Given the description of an element on the screen output the (x, y) to click on. 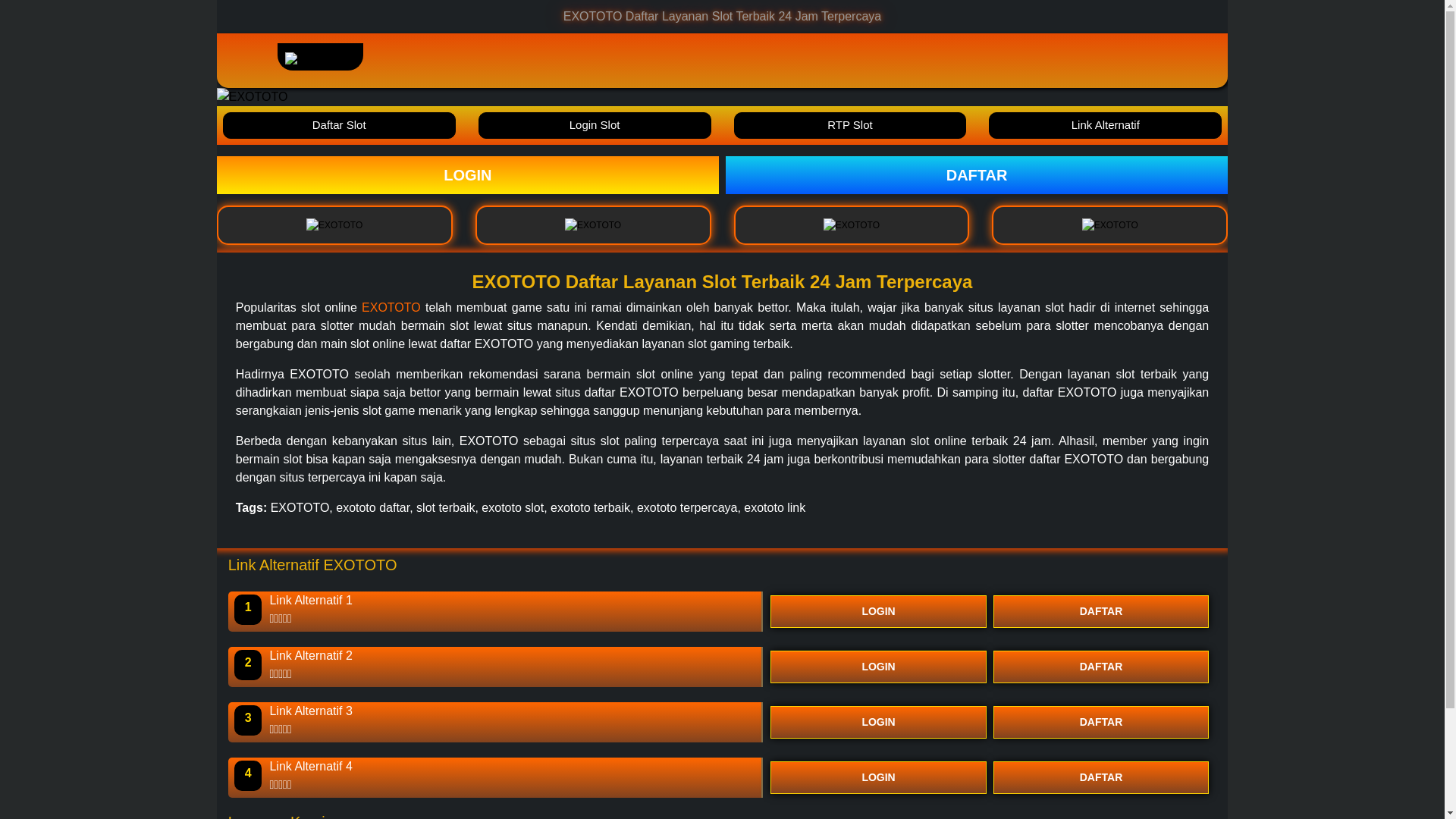
DAFTAR (1100, 611)
DAFTAR (976, 175)
LOGIN (878, 721)
LOGIN (878, 777)
DAFTAR (1100, 721)
LOGIN (467, 175)
LOGIN (878, 611)
DAFTAR (1100, 666)
DAFTAR (1100, 777)
LOGIN (878, 666)
EXOTOTO (467, 175)
EXOTOTO (976, 175)
EXOTOTO (390, 307)
